Given the description of an element on the screen output the (x, y) to click on. 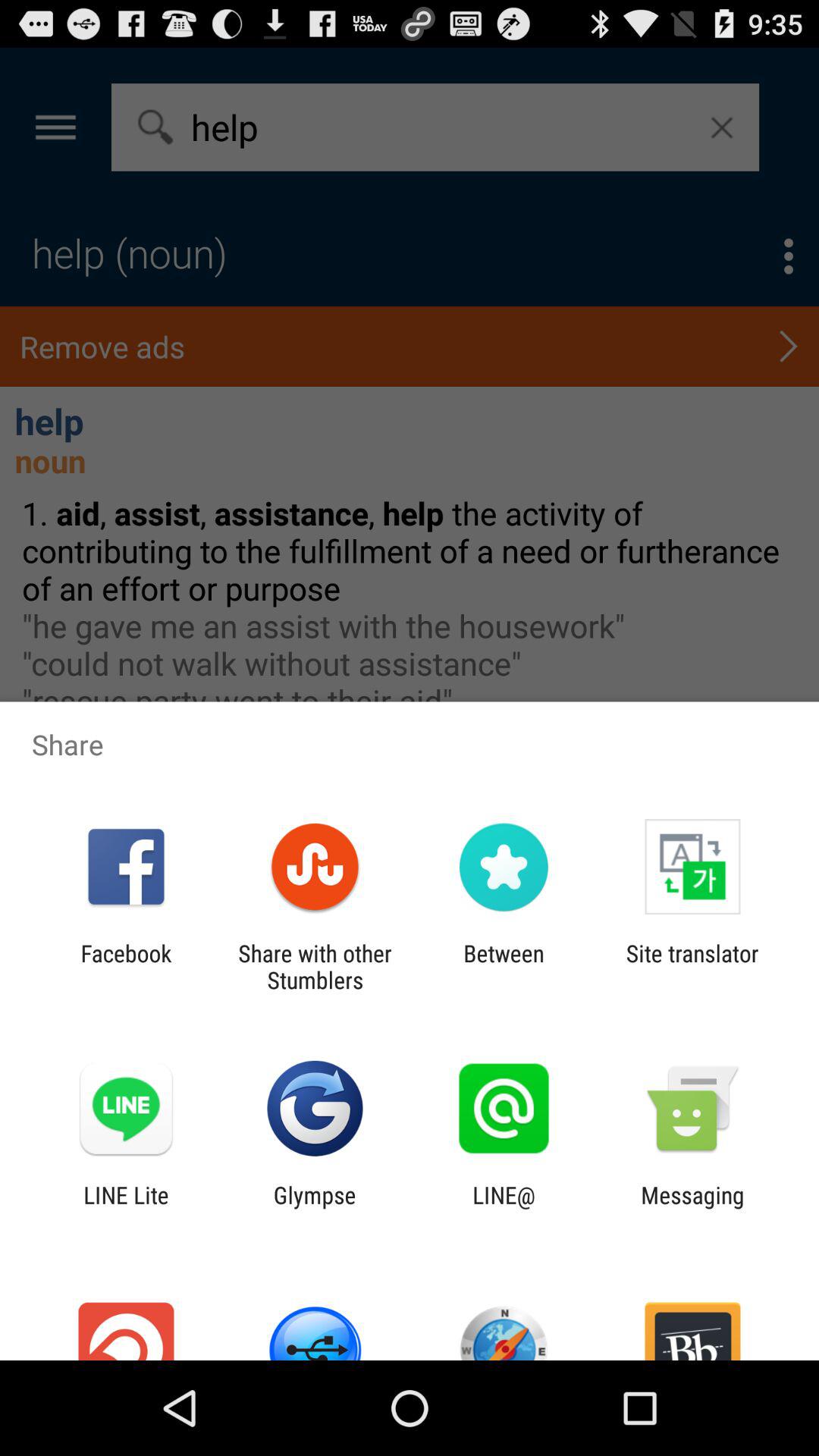
choose item to the right of share with other item (503, 966)
